Given the description of an element on the screen output the (x, y) to click on. 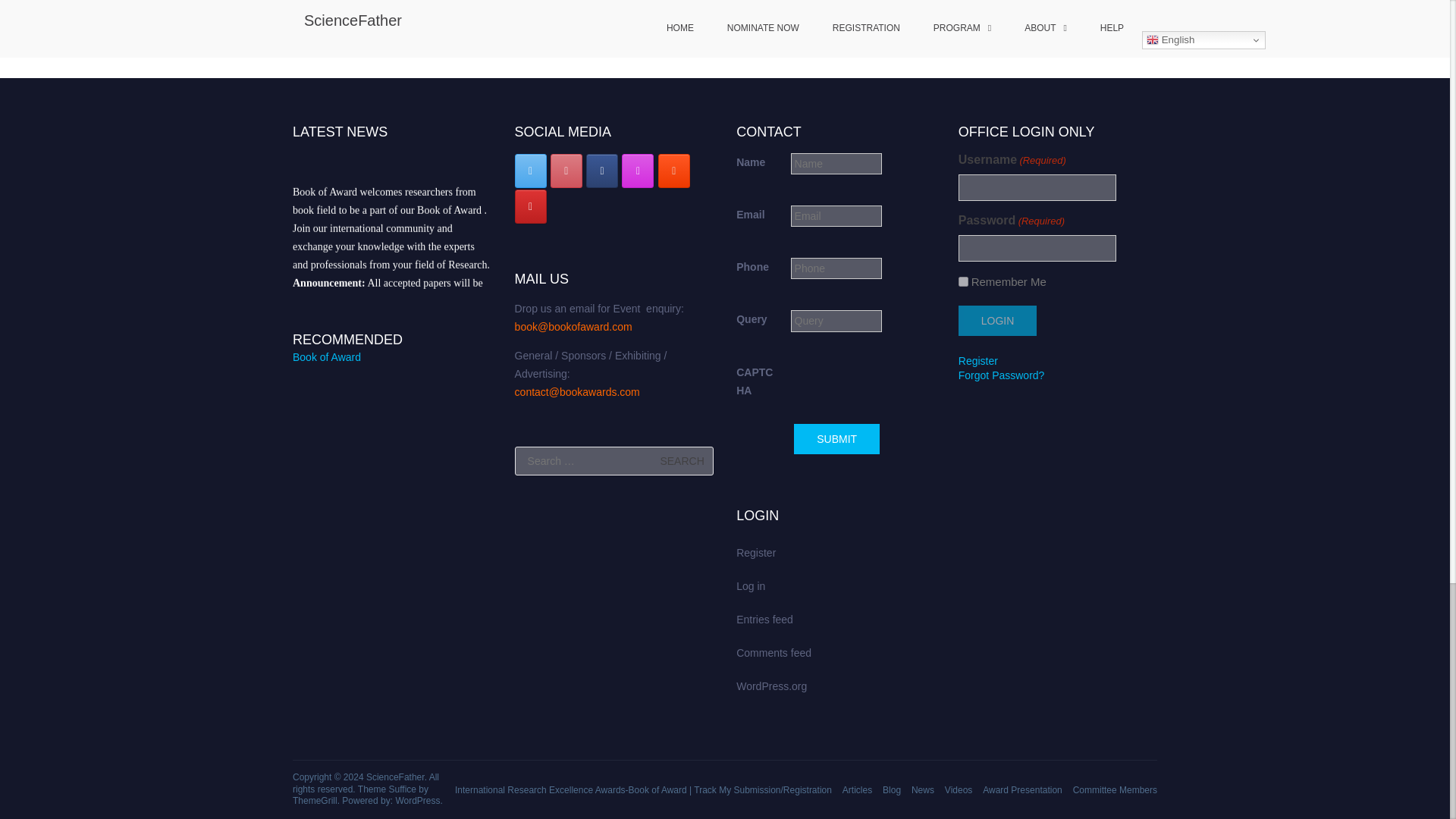
Search (681, 460)
1 (963, 281)
Login (997, 320)
ScienceFather on X Twitter (531, 170)
Submit (836, 439)
Search (681, 460)
